Given the description of an element on the screen output the (x, y) to click on. 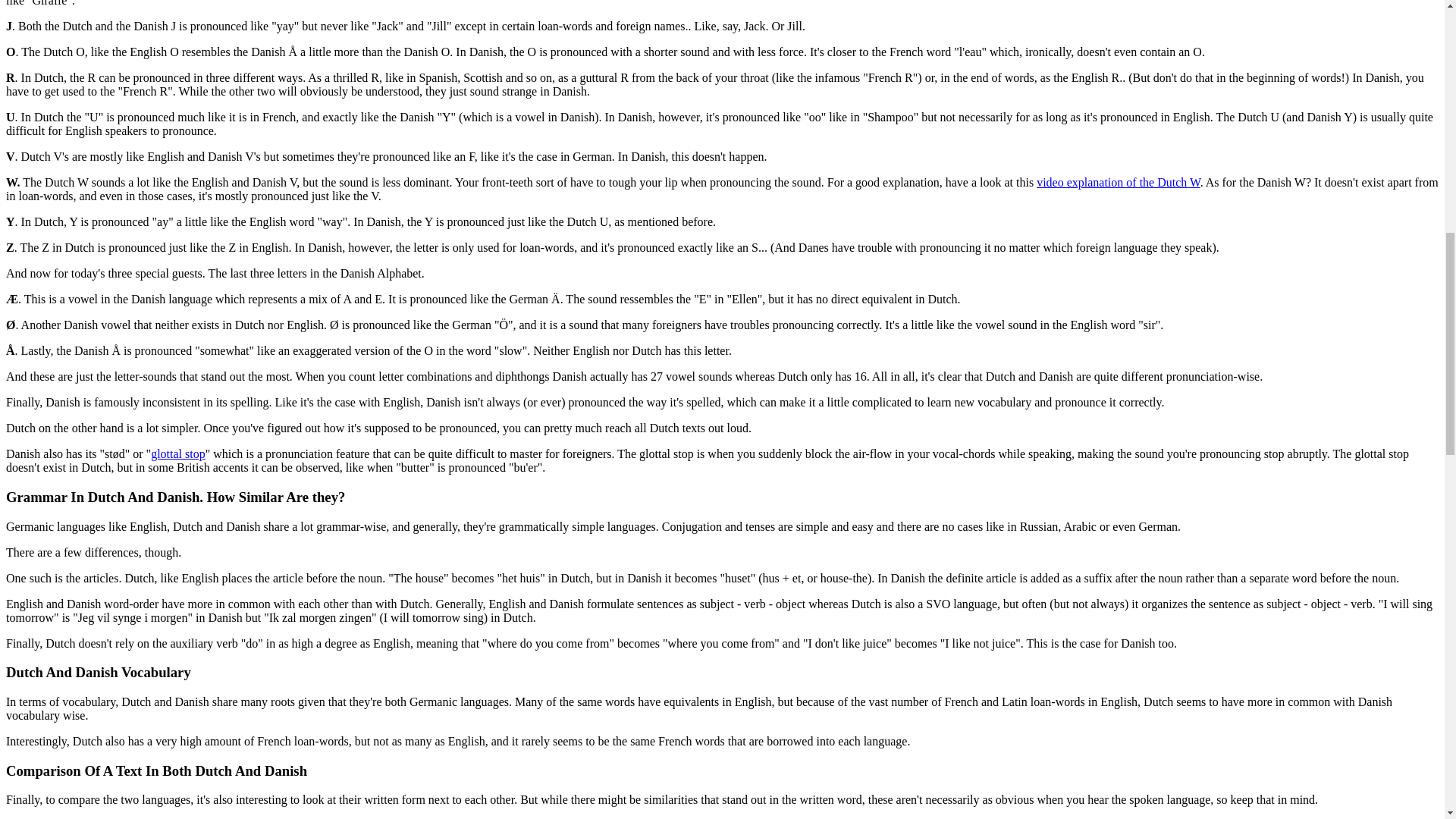
glottal stop (178, 453)
video explanation of the Dutch W (1117, 182)
